Given the description of an element on the screen output the (x, y) to click on. 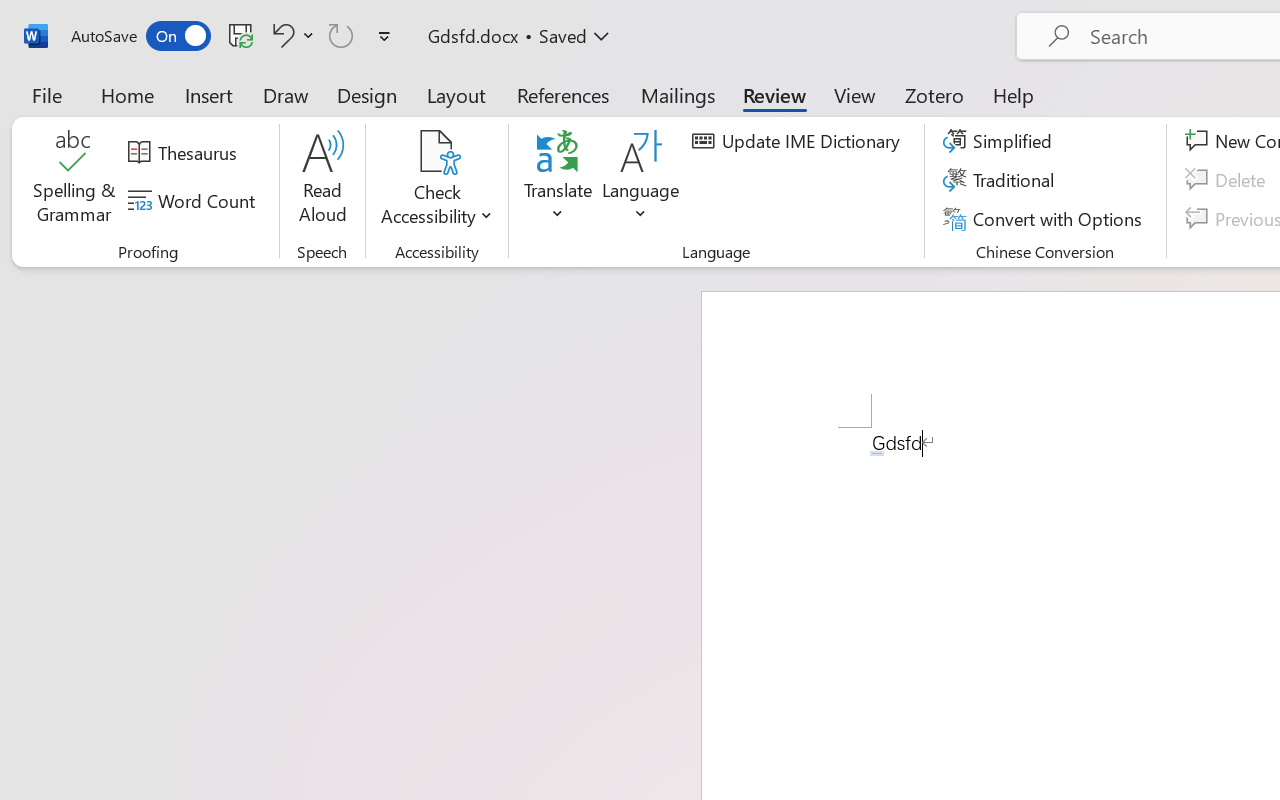
Delete (1227, 179)
Read Aloud (322, 179)
Check Accessibility (436, 151)
Simplified (1000, 141)
